Given the description of an element on the screen output the (x, y) to click on. 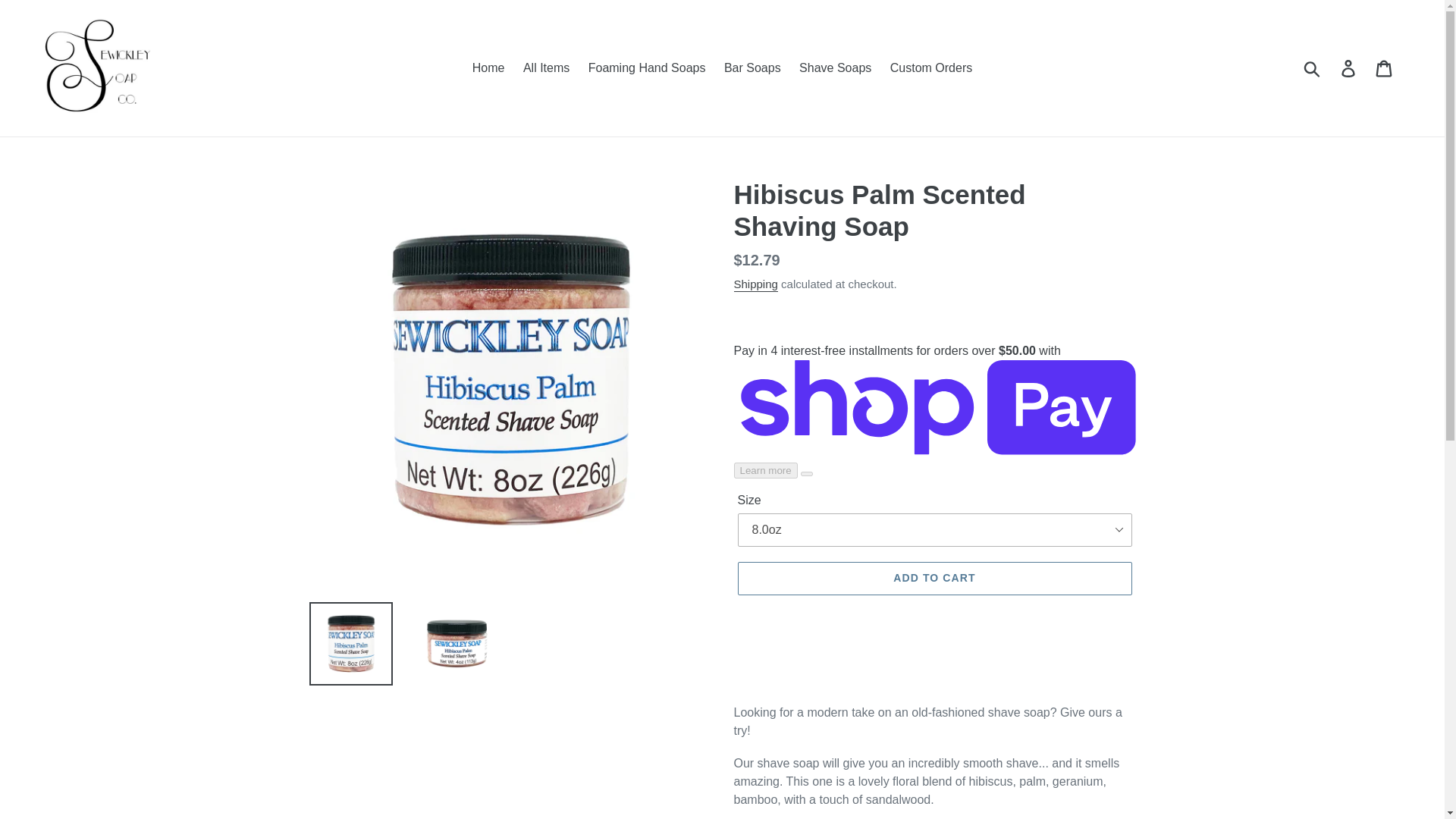
Cart (1385, 68)
ADD TO CART (933, 578)
Foaming Hand Soaps (646, 67)
Log in (1349, 68)
Submit (1313, 68)
Shave Soaps (835, 67)
Bar Soaps (752, 67)
Shipping (755, 284)
Home (488, 67)
Custom Orders (930, 67)
